Given the description of an element on the screen output the (x, y) to click on. 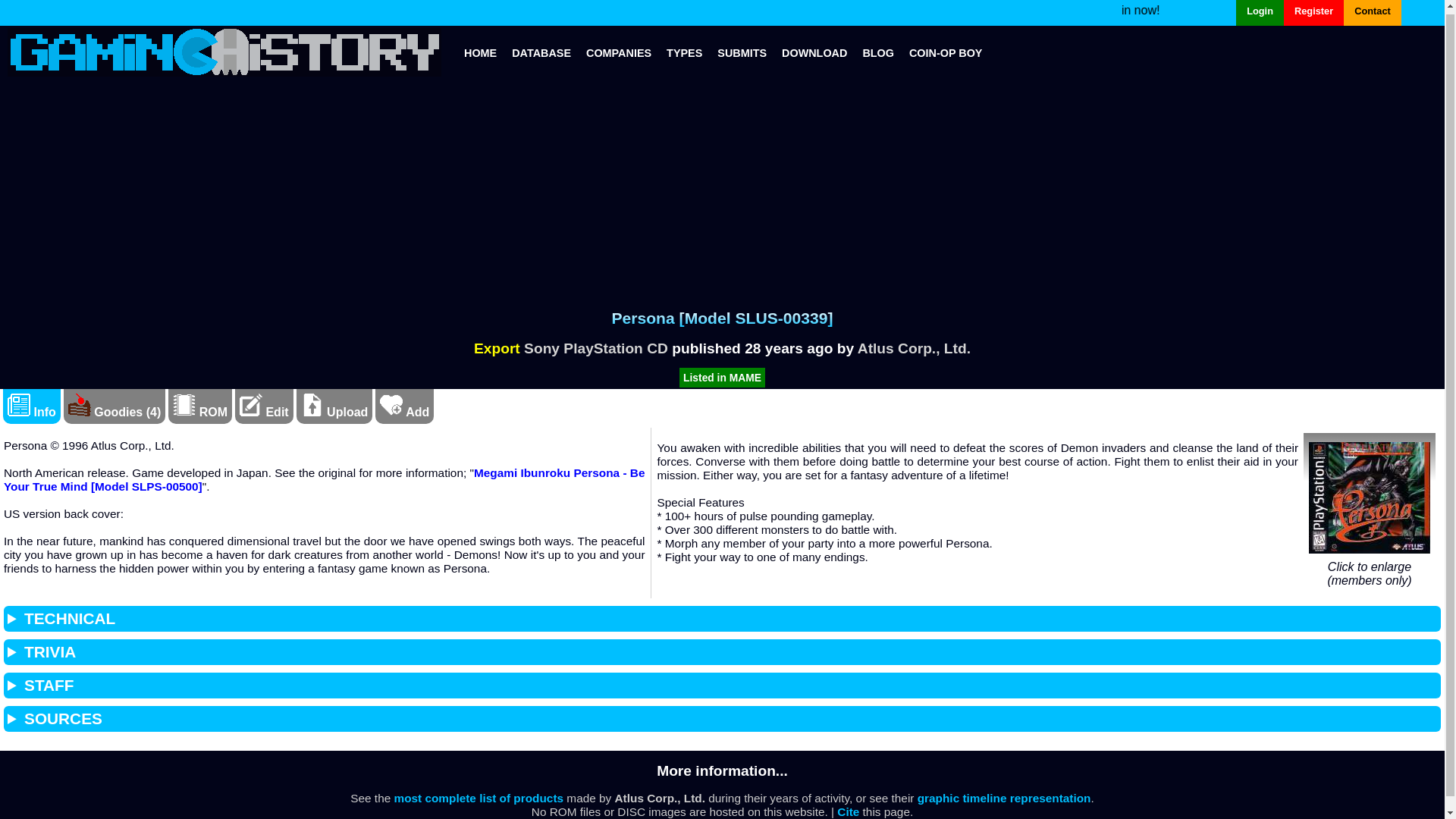
most complete list of products (478, 797)
Play our Video Game (945, 52)
Browse Submits and more... (742, 52)
upload new image (312, 404)
Info (31, 411)
DOWNLOAD (814, 52)
Register (1313, 12)
ROM (184, 404)
ROM (200, 411)
SUBMITS (742, 52)
add to my collection (404, 411)
BLOG (877, 52)
Return to the Mainpage (480, 52)
DATABASE (540, 52)
Cite (848, 811)
